Given the description of an element on the screen output the (x, y) to click on. 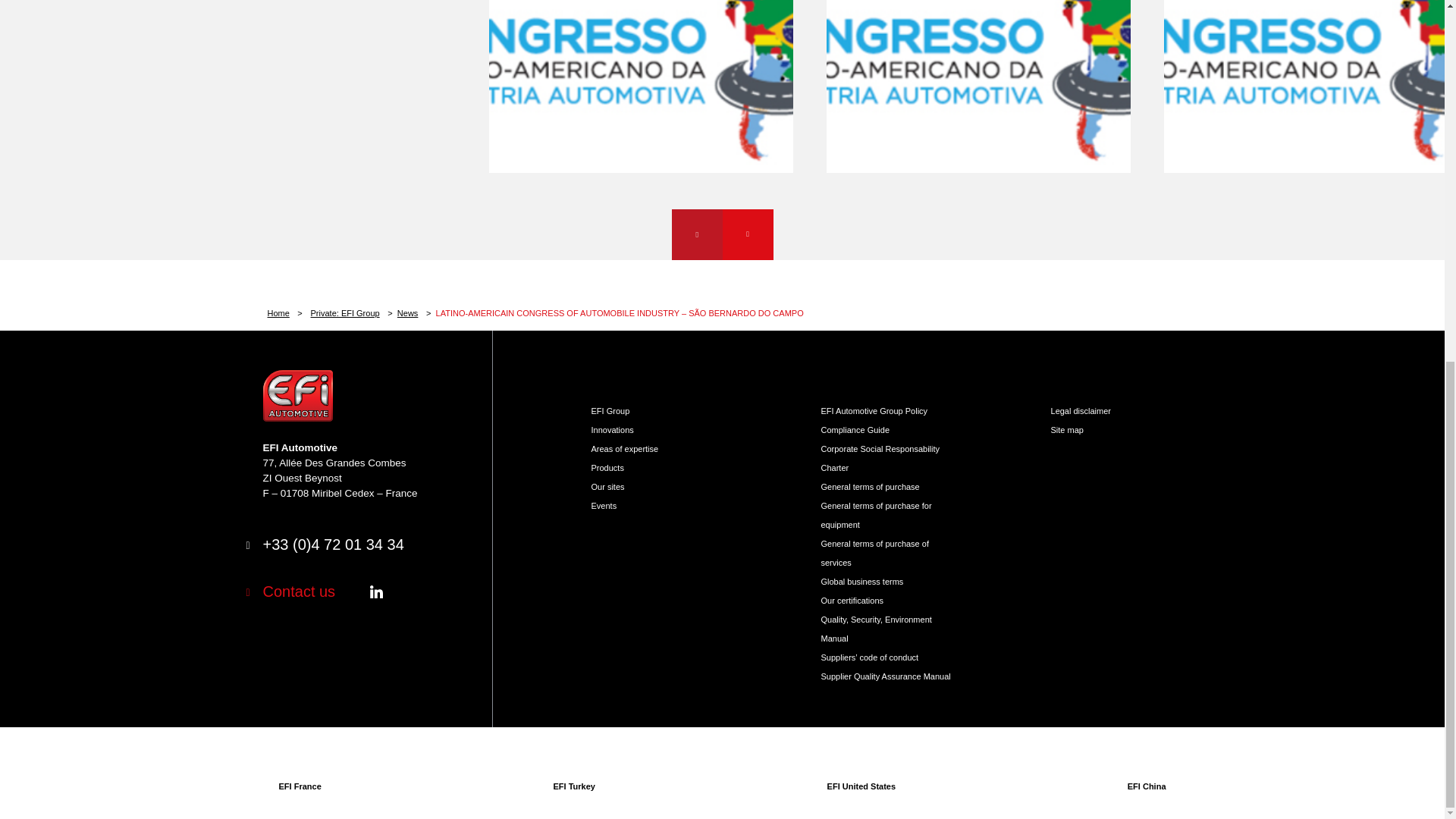
Home (283, 312)
News (413, 312)
Private: EFI Group (352, 312)
